Given the description of an element on the screen output the (x, y) to click on. 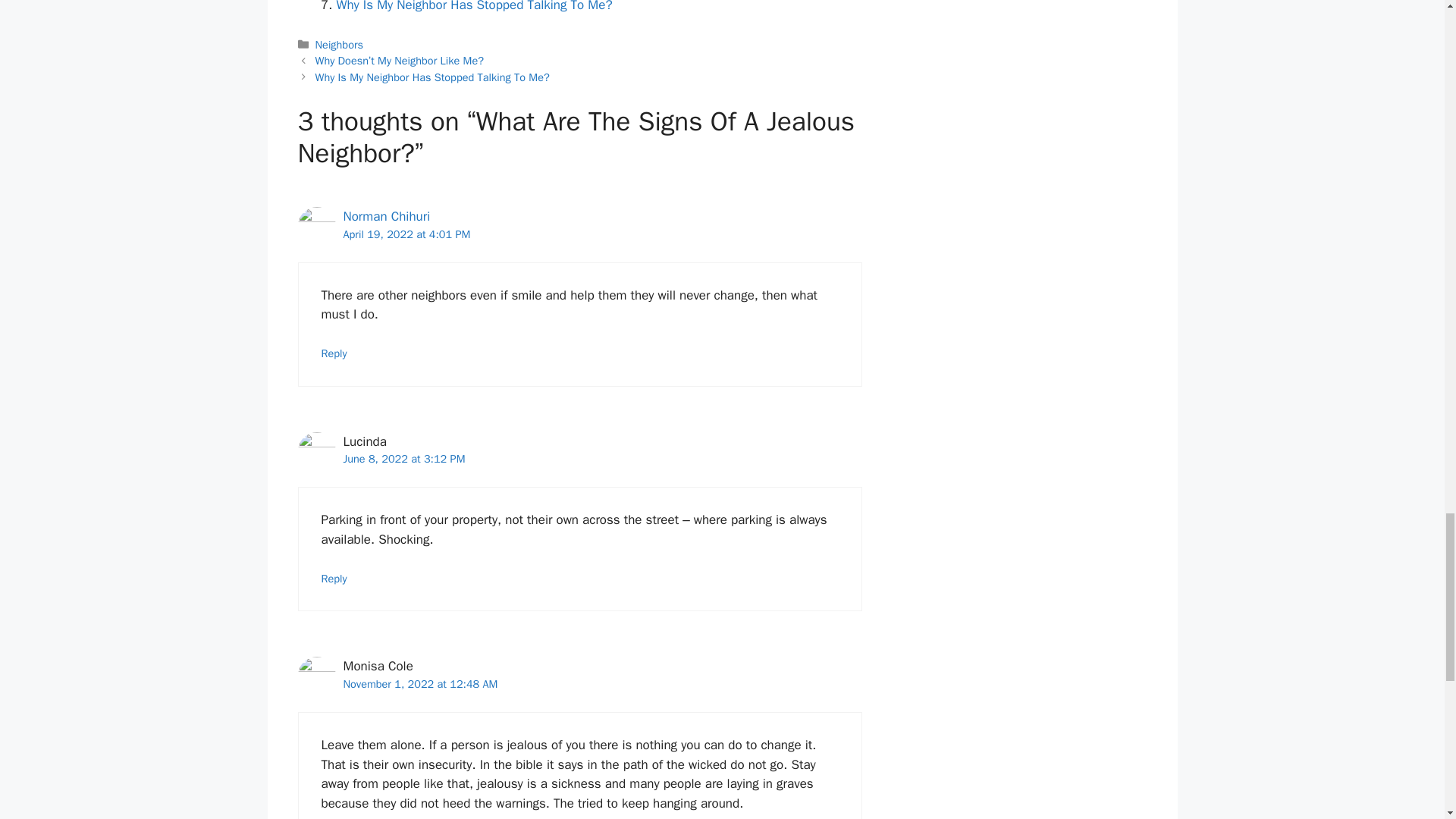
Why Is My Neighbor Has Stopped Talking To Me? (432, 77)
April 19, 2022 at 4:01 PM (406, 233)
Neighbors (338, 44)
June 8, 2022 at 3:12 PM (403, 459)
Reply (334, 578)
Why Is My Neighbor Has Stopped Talking To Me? (474, 6)
Norman Chihuri (385, 216)
Why Is My Neighbor Has Stopped Talking To Me? (474, 6)
November 1, 2022 at 12:48 AM (419, 684)
Reply (334, 353)
